Given the description of an element on the screen output the (x, y) to click on. 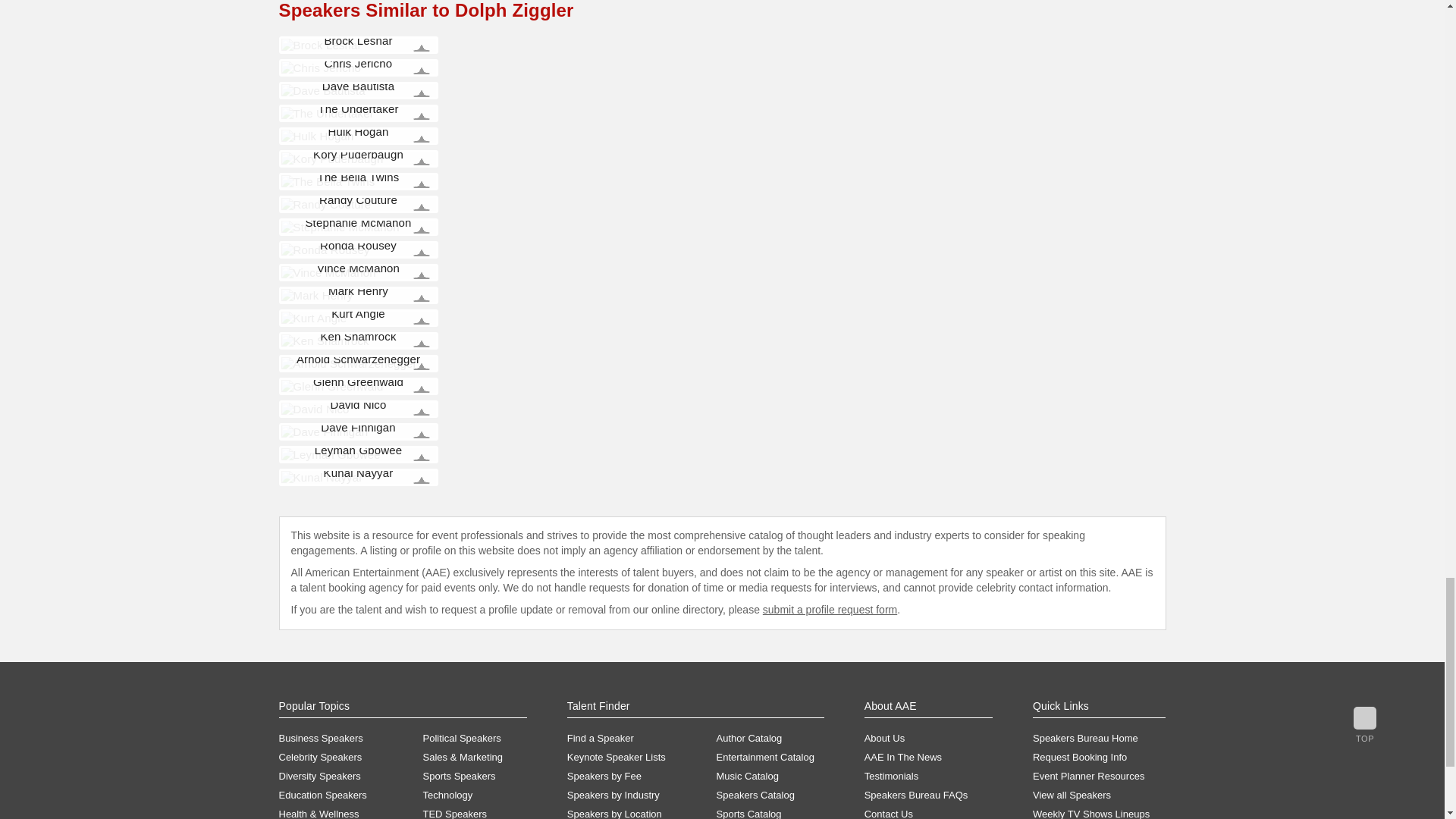
The Undertaker (326, 113)
Dave Bautista (323, 90)
Brock Lesnar (321, 44)
Chris Jericho (320, 67)
Hulk Hogan (317, 135)
